Given the description of an element on the screen output the (x, y) to click on. 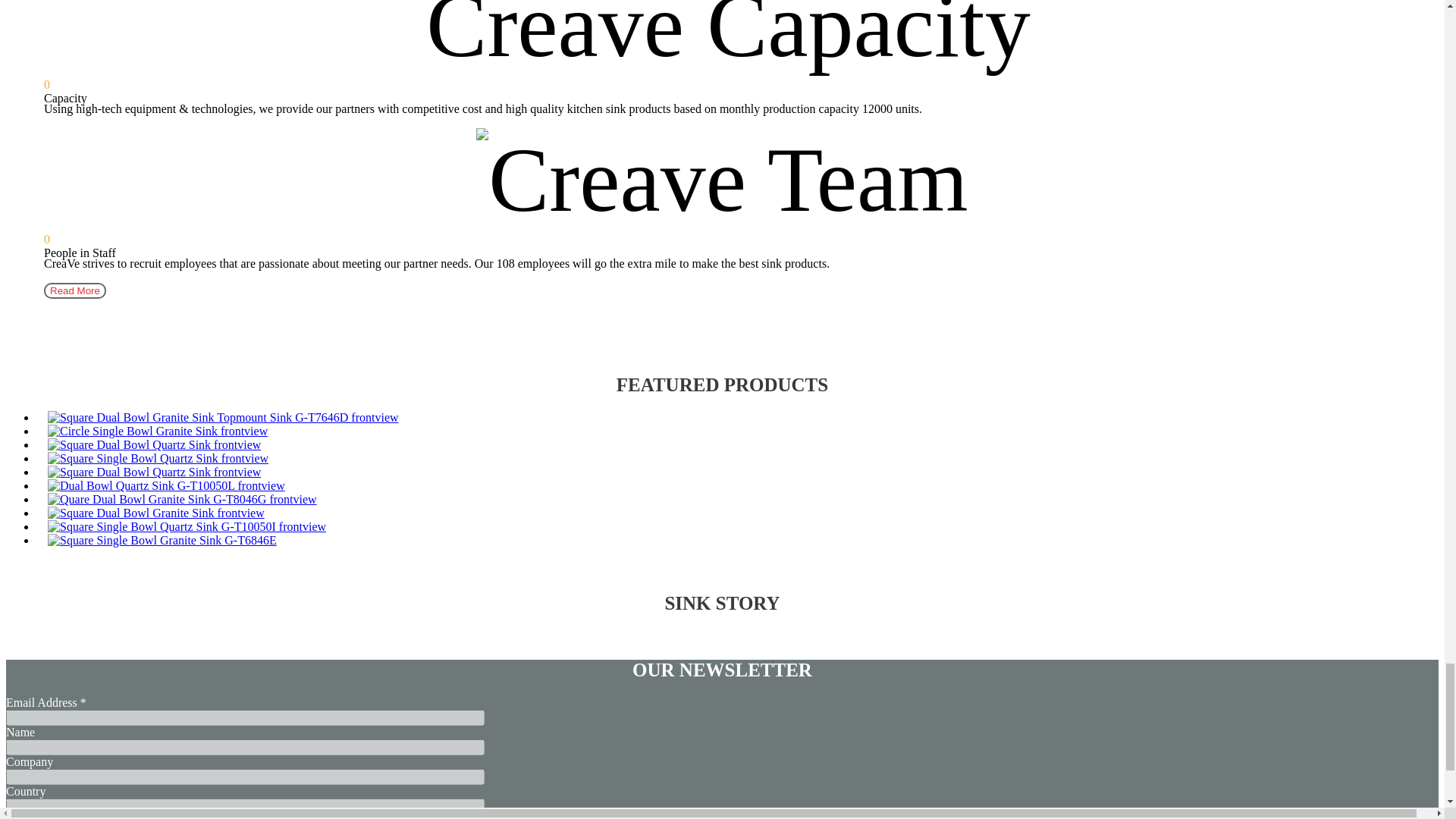
Read More (74, 289)
Read More (74, 290)
